Given the description of an element on the screen output the (x, y) to click on. 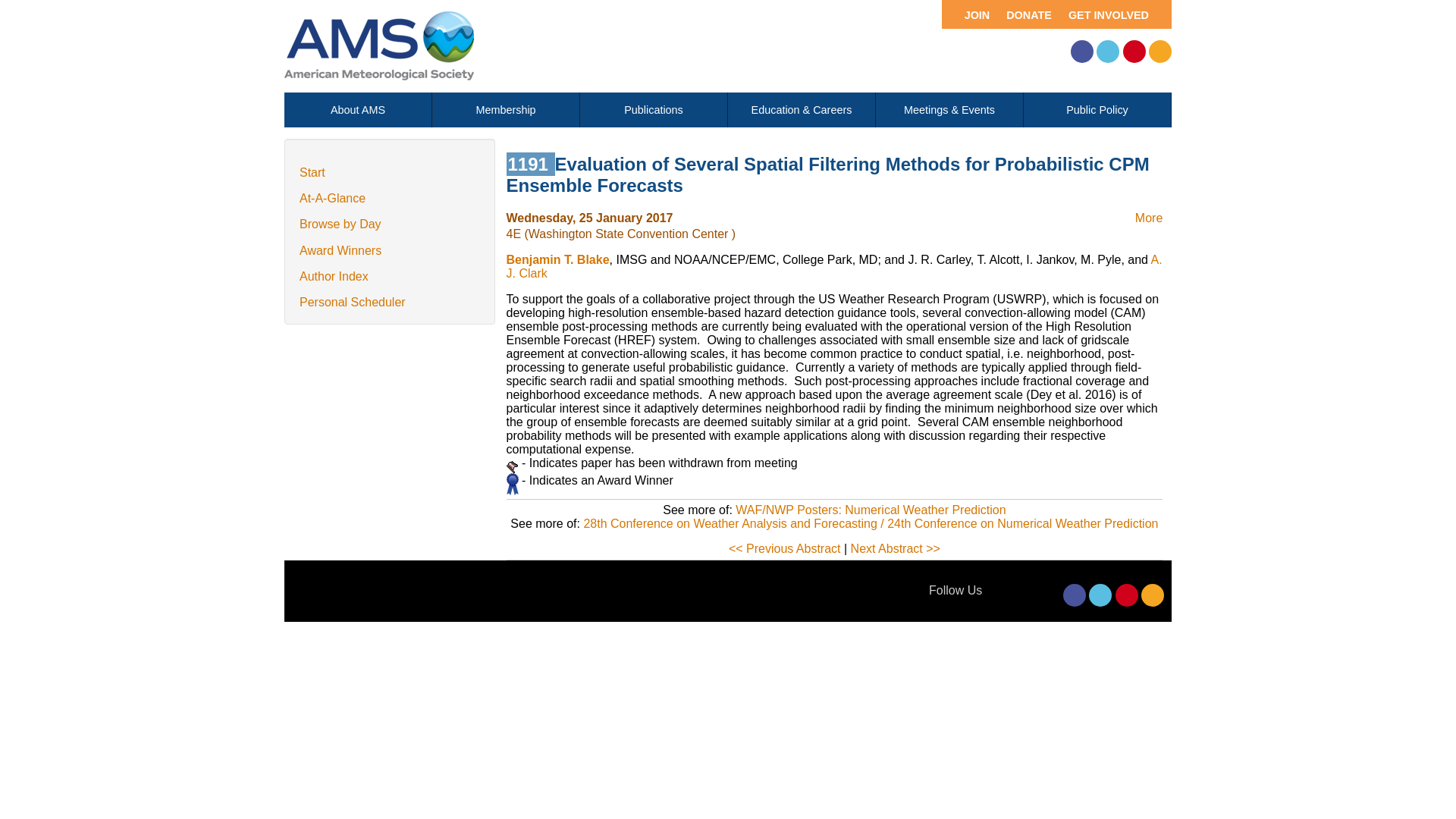
JOIN (968, 14)
Browse by Day (340, 223)
YouTube (1126, 594)
Twitter (1100, 594)
YouTube (1133, 51)
More (1148, 217)
Facebook (1074, 594)
Public Policy (1096, 109)
A. J. Clark (833, 266)
Membership (505, 109)
At-A-Glance (332, 197)
RSS (1160, 51)
Facebook (1081, 51)
RSS (1152, 594)
Benjamin T. Blake (558, 259)
